Given the description of an element on the screen output the (x, y) to click on. 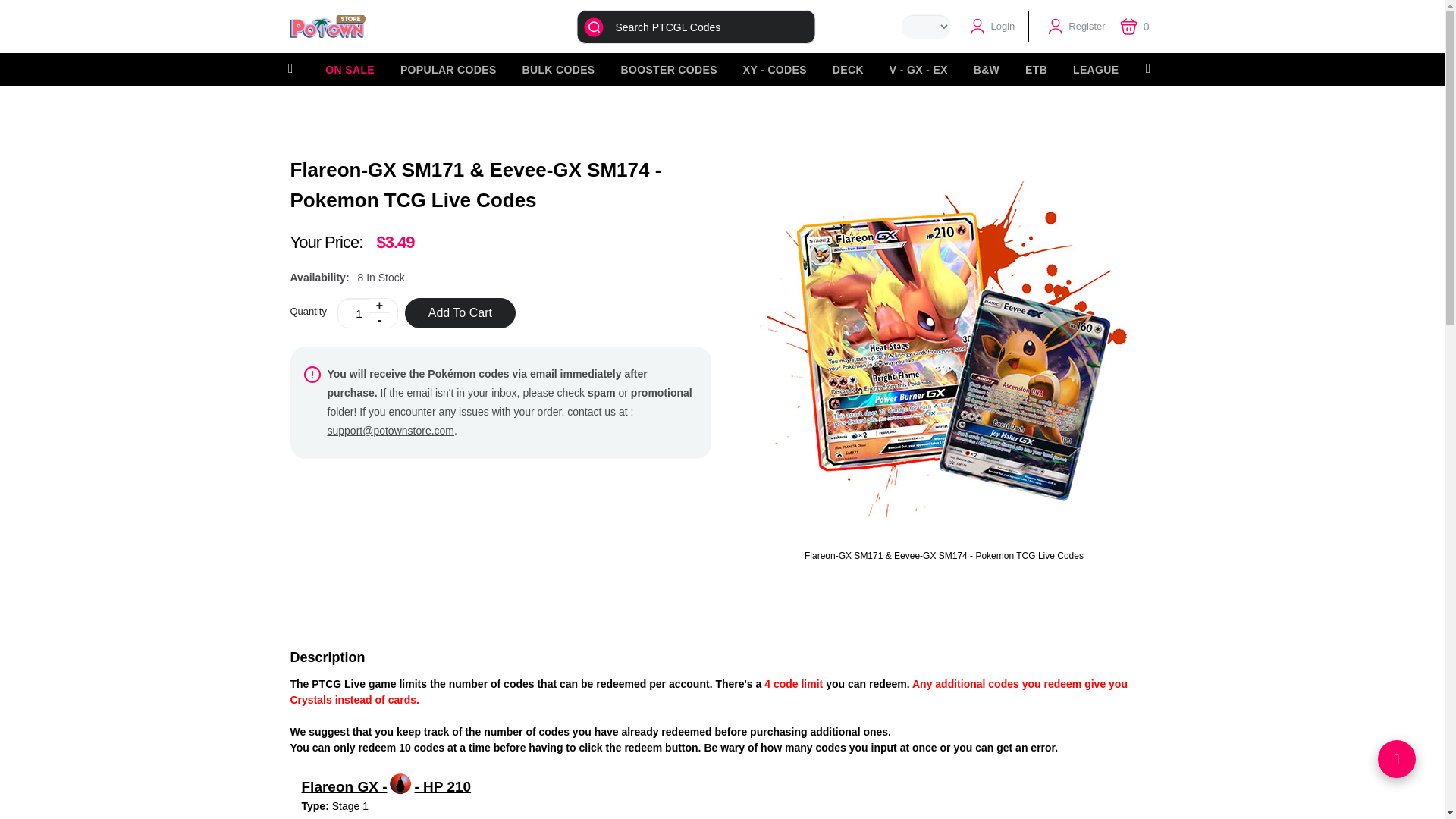
1 (367, 313)
XY - CODES (775, 69)
BOOSTER CODES (668, 69)
POPULAR CODES (448, 69)
Register (1075, 26)
Login (991, 26)
ETB (1035, 69)
LEAGUE (1095, 69)
DECK (848, 69)
BLISTER PROMO (1189, 69)
